Given the description of an element on the screen output the (x, y) to click on. 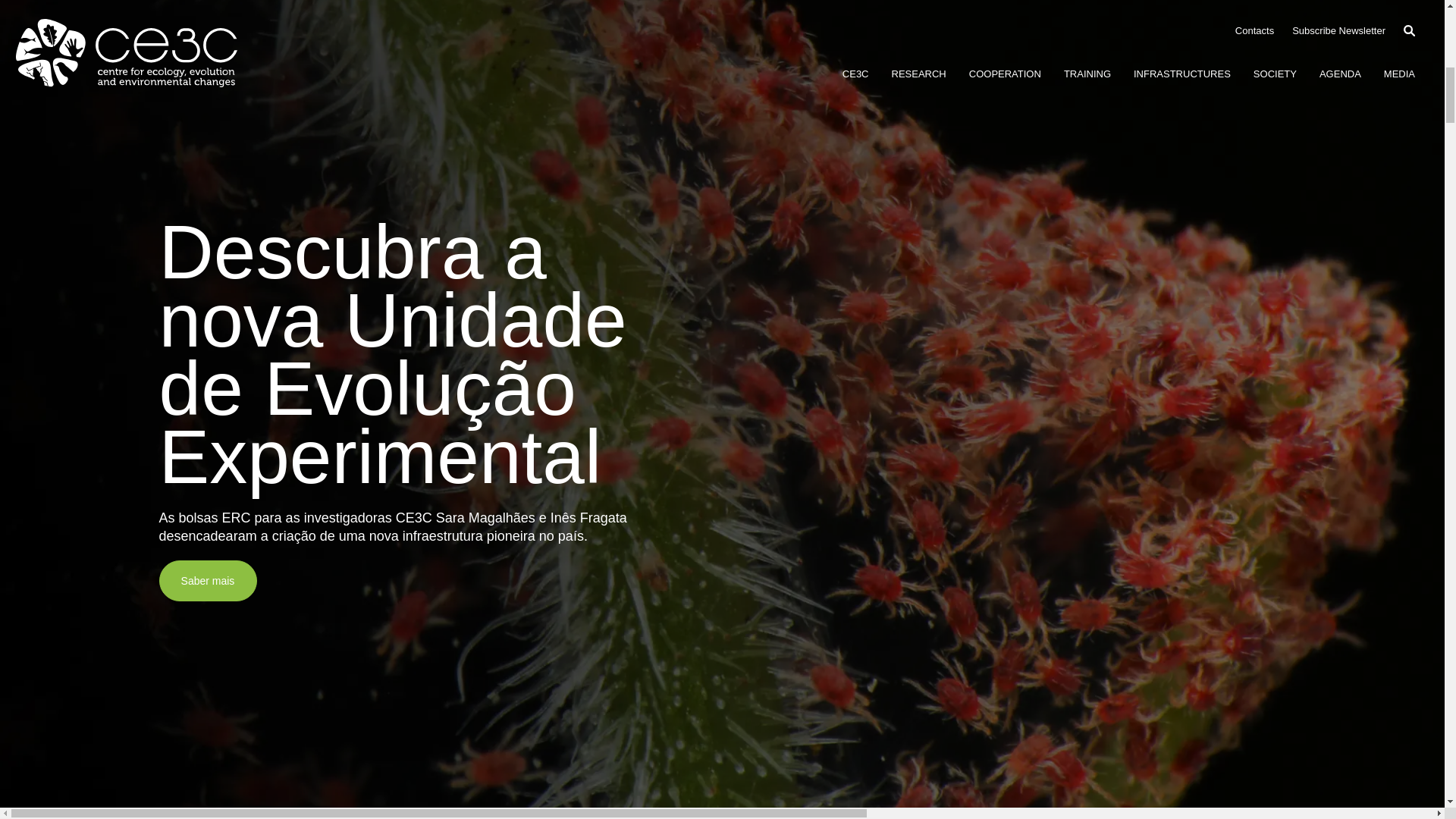
Saber mais (207, 580)
Land Under Pressure  (650, 778)
